Given the description of an element on the screen output the (x, y) to click on. 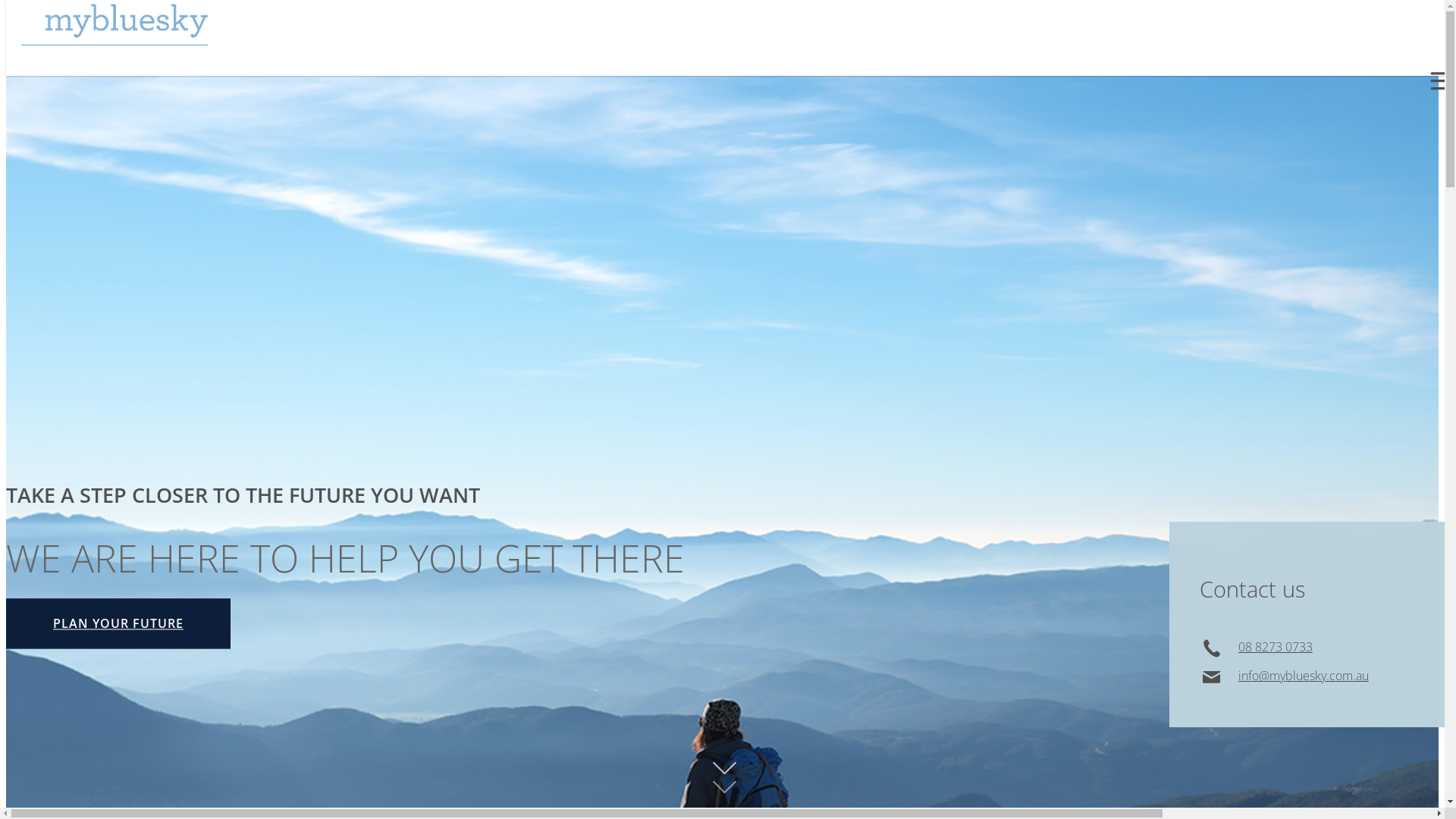
PLAN YOUR FUTURE Element type: text (118, 623)
info@mybluesky.com.au Element type: text (1303, 675)
08 8273 0733 Element type: text (1275, 646)
